Given the description of an element on the screen output the (x, y) to click on. 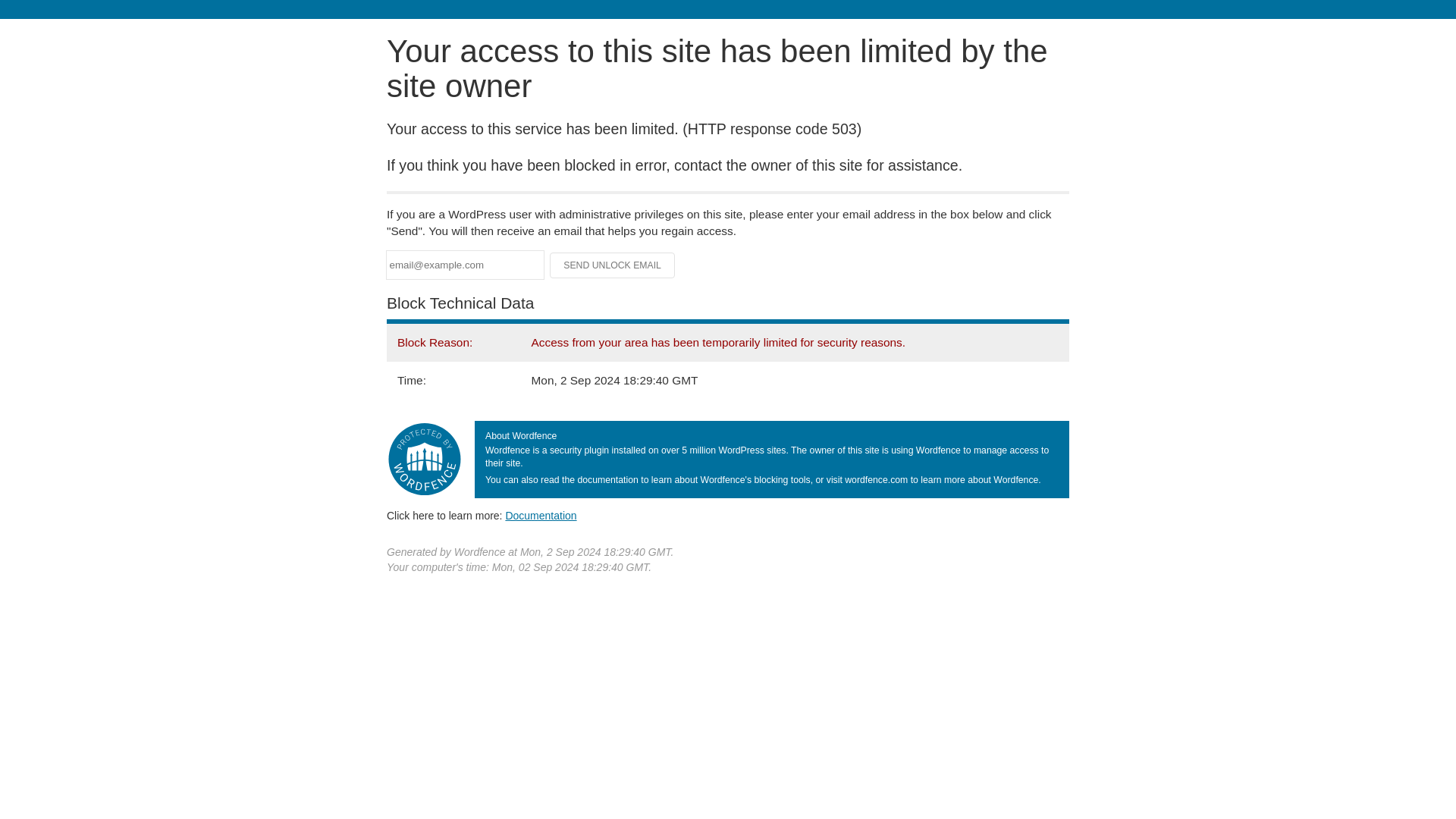
Send Unlock Email (612, 265)
Documentation (540, 515)
Send Unlock Email (612, 265)
